Given the description of an element on the screen output the (x, y) to click on. 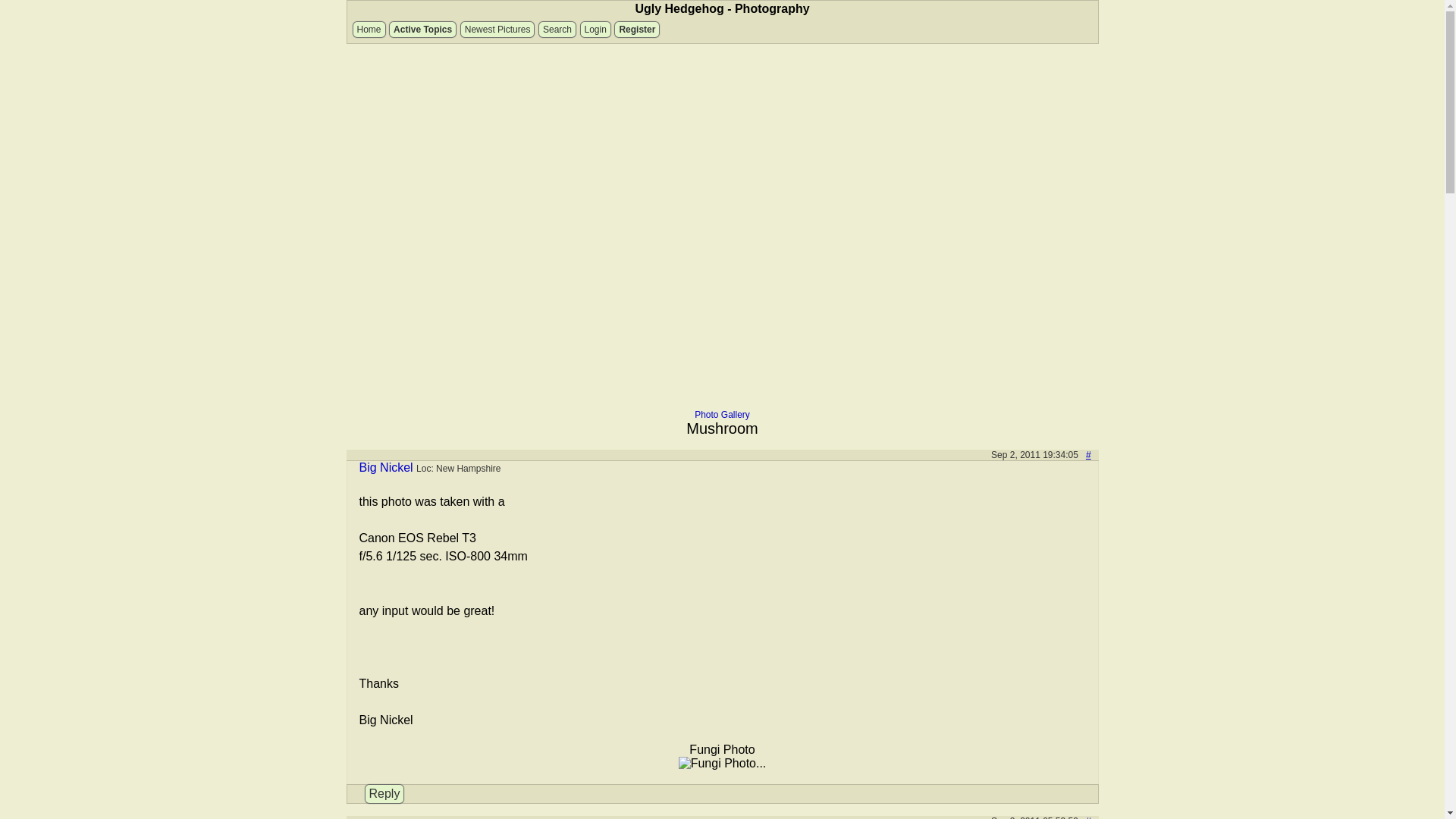
Reply (384, 793)
Photo Gallery (721, 414)
Big Nickel (386, 467)
Home (369, 29)
Actively discussed topics in the past 24 hours (422, 29)
Newest Pictures (497, 29)
Search (556, 29)
Active Topics (422, 29)
Register (636, 29)
Login (595, 29)
